Given the description of an element on the screen output the (x, y) to click on. 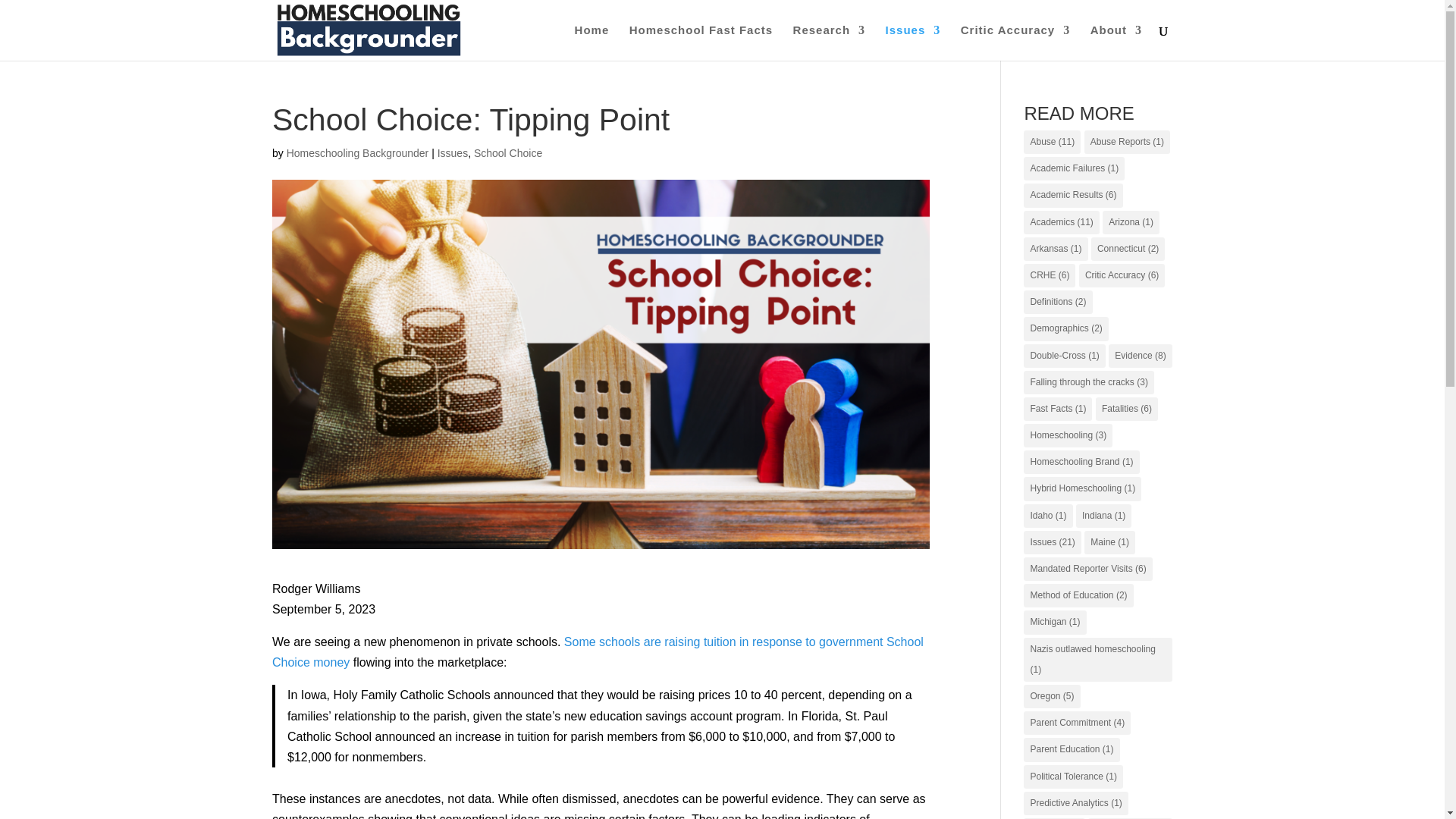
Research (829, 42)
Homeschool Fast Facts (700, 42)
Home (592, 42)
Issues (912, 42)
Posts by Homeschooling Backgrounder (357, 152)
